Given the description of an element on the screen output the (x, y) to click on. 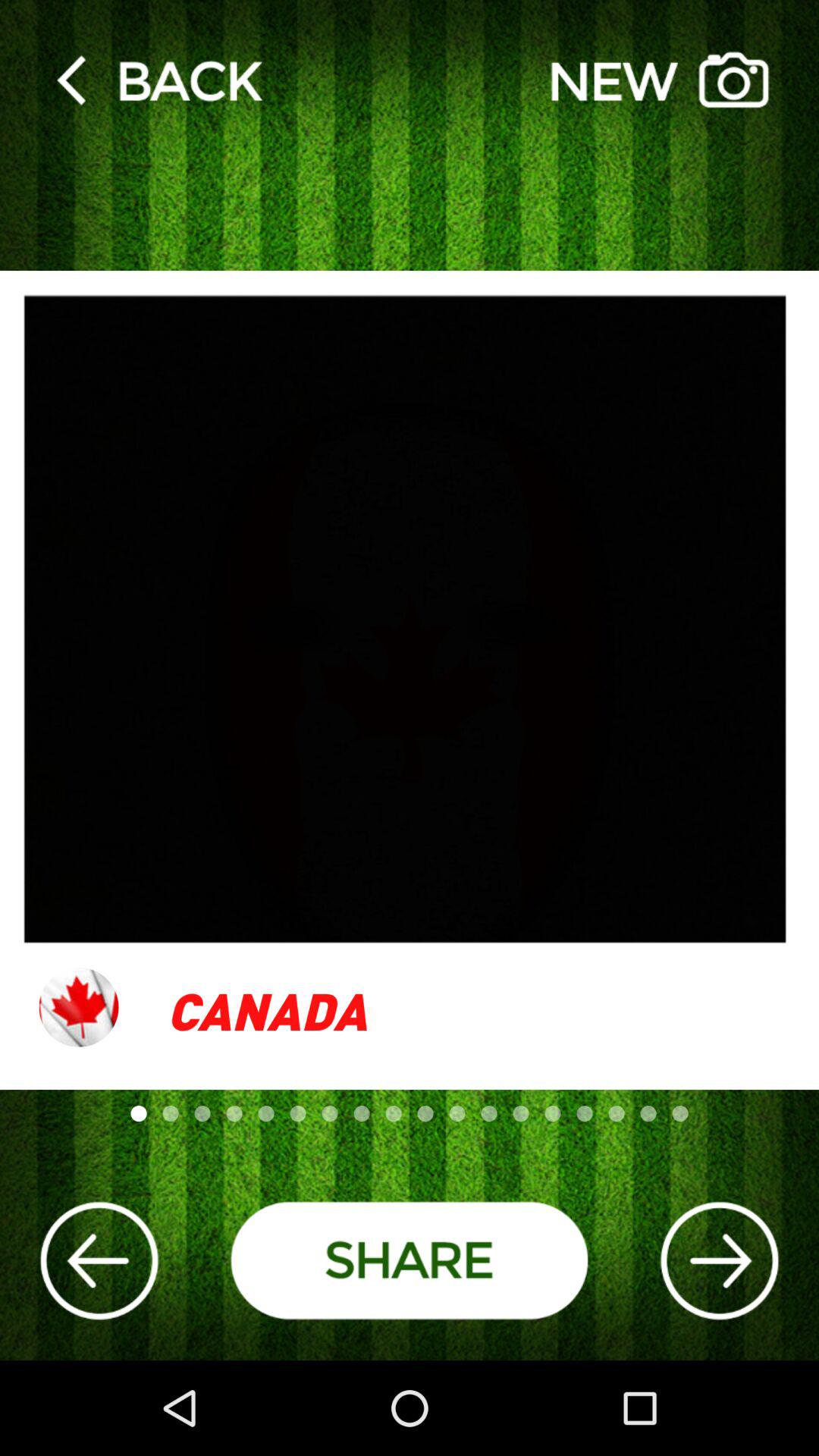
go forward (719, 1260)
